Given the description of an element on the screen output the (x, y) to click on. 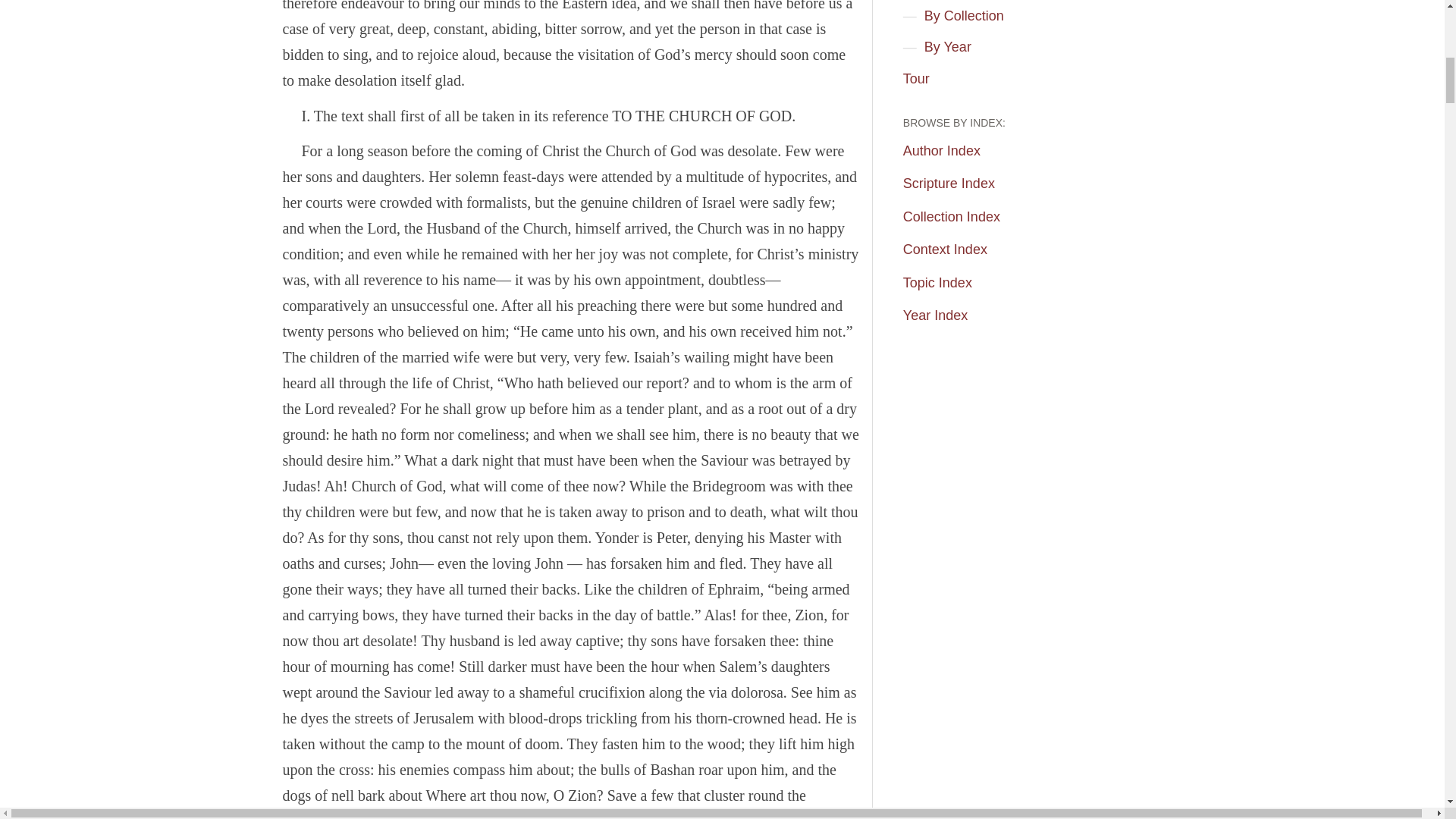
By Year (953, 47)
Tour (921, 79)
Author Index (946, 151)
By Collection (969, 16)
